Given the description of an element on the screen output the (x, y) to click on. 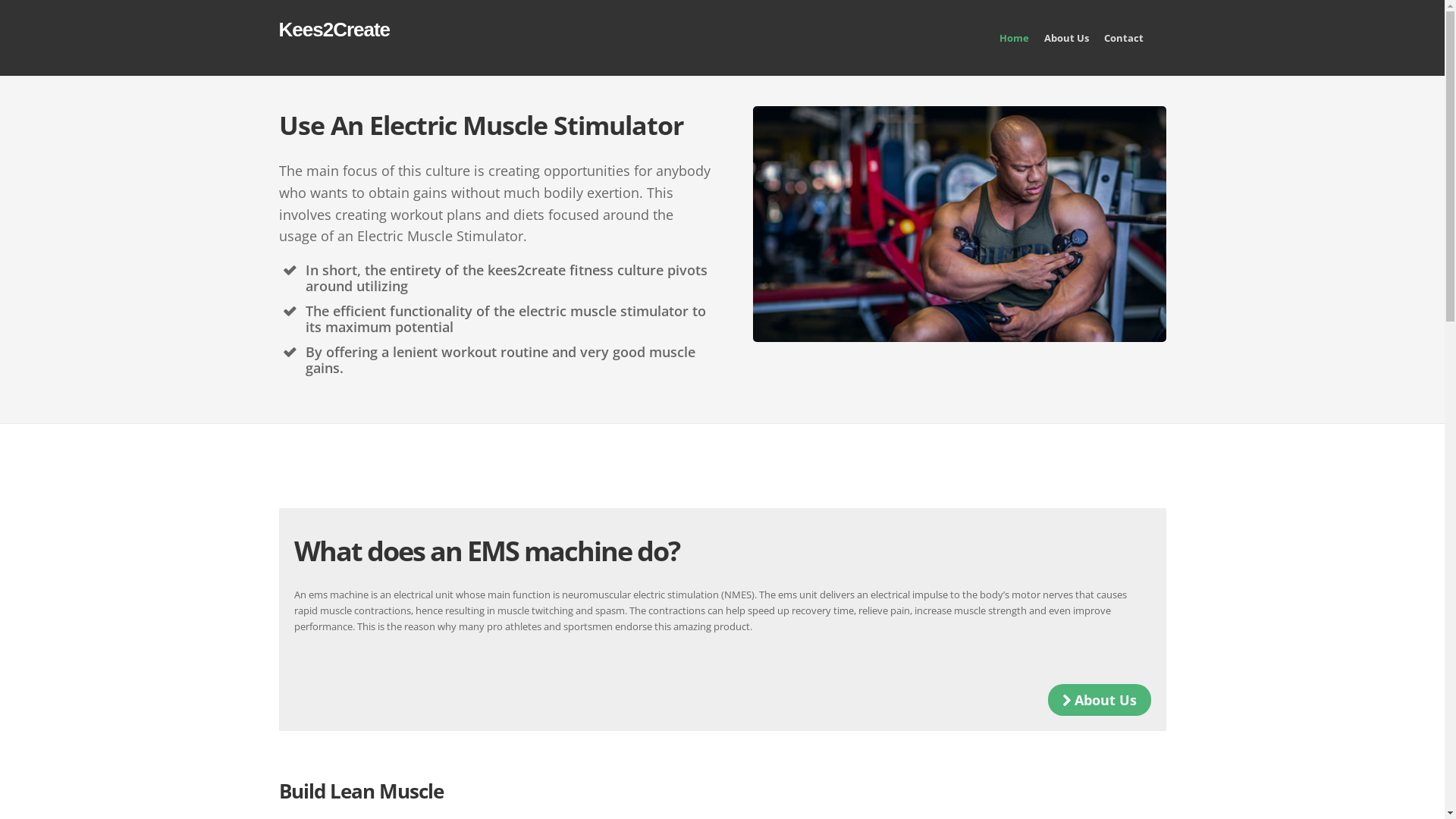
About Us Element type: text (1099, 699)
Build Lean Muscle Element type: text (361, 790)
Contact Element type: text (1115, 45)
Home Element type: text (1006, 45)
About Us Element type: text (1058, 45)
Kees2Create Element type: text (334, 29)
